Given the description of an element on the screen output the (x, y) to click on. 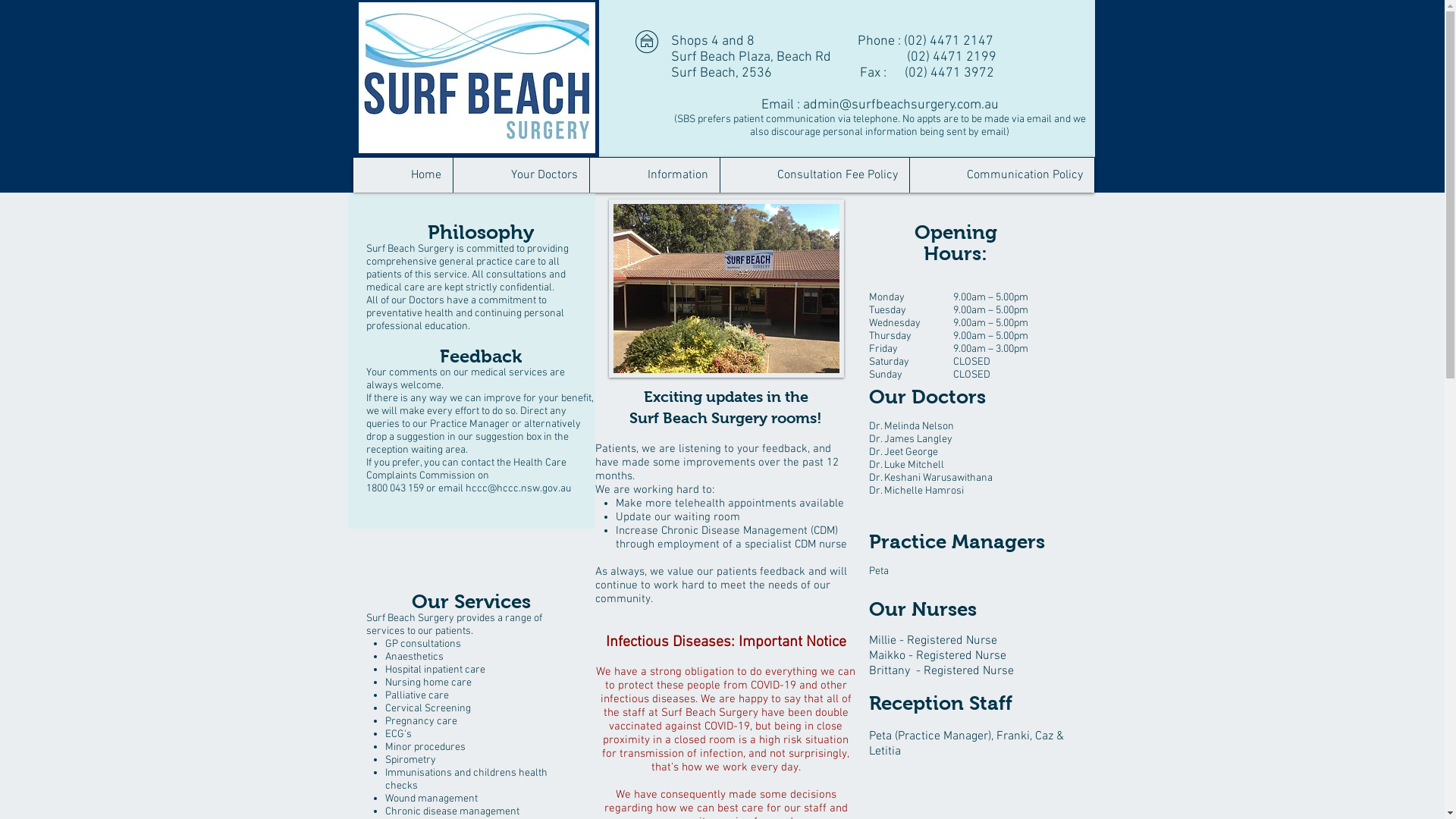
Consultation Fee Policy Element type: text (813, 174)
hccc@hccc.nsw.gov.au Element type: text (518, 488)
Home Element type: text (402, 174)
Your Doctors Element type: text (519, 174)
admin@surfbeachsurgery.com.au Element type: text (899, 104)
Communication Policy Element type: text (1000, 174)
Information Element type: text (653, 174)
